Given the description of an element on the screen output the (x, y) to click on. 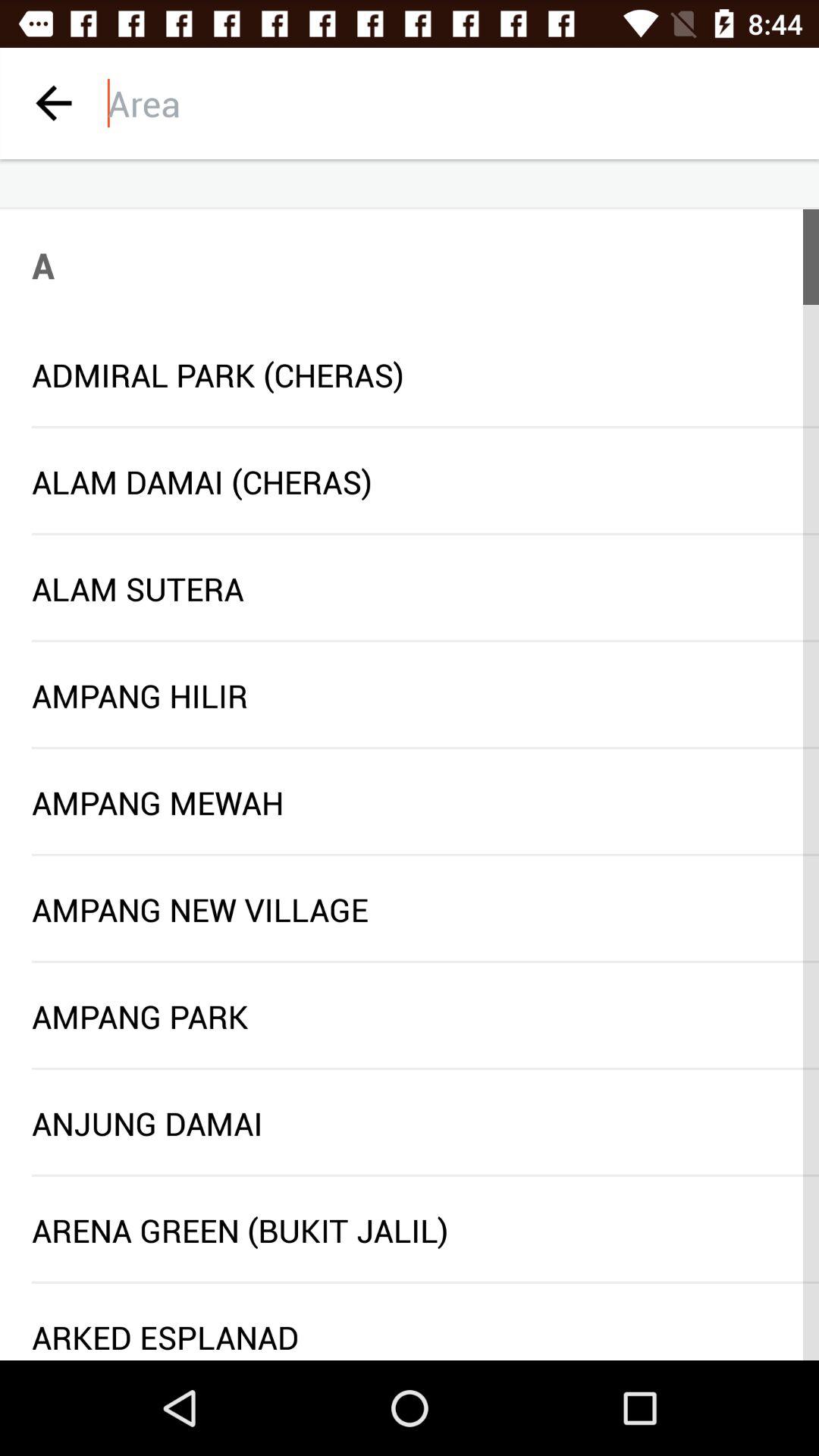
tap ampang hilir icon (409, 695)
